Given the description of an element on the screen output the (x, y) to click on. 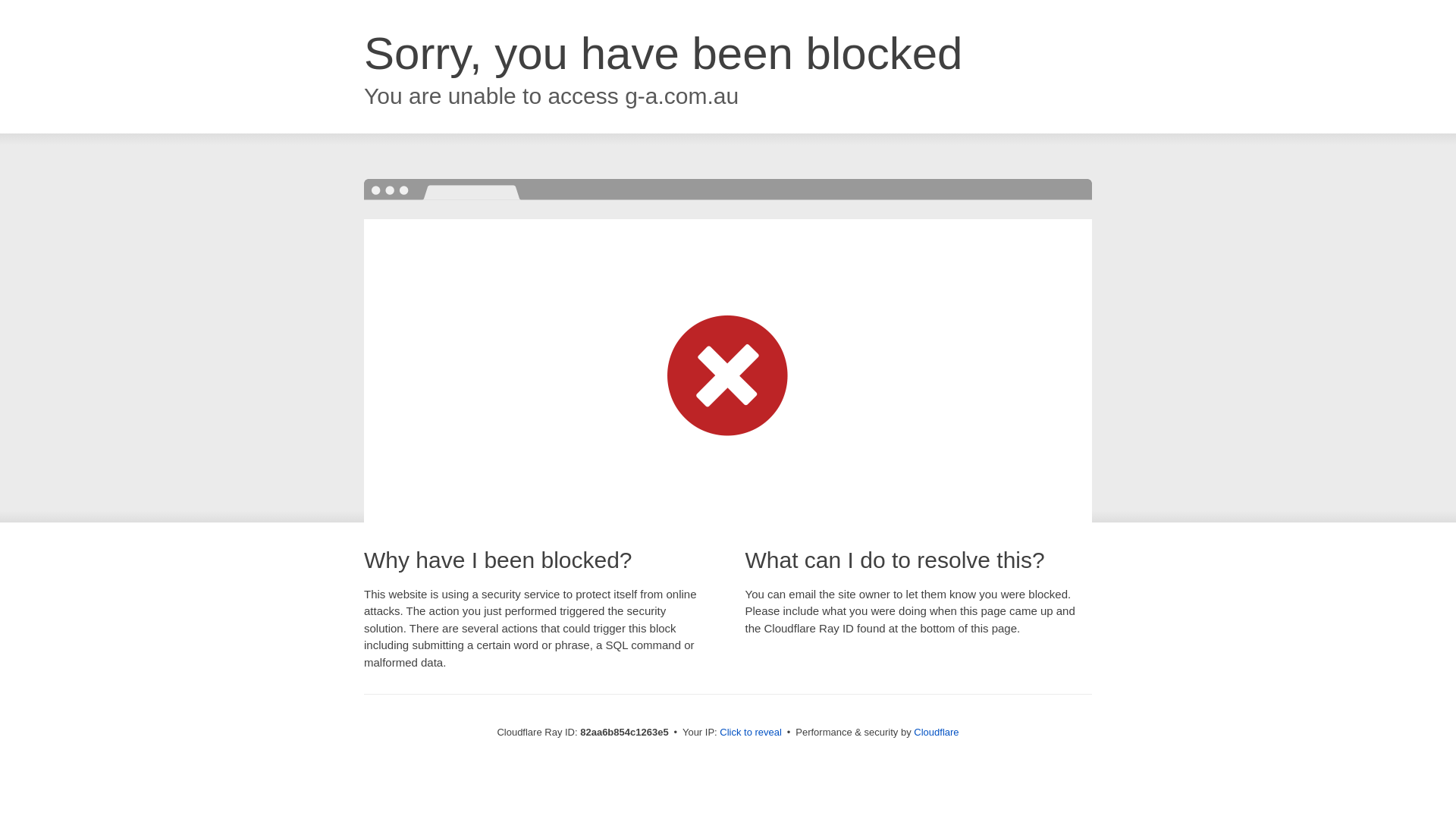
Click to reveal Element type: text (750, 732)
Cloudflare Element type: text (935, 731)
